Given the description of an element on the screen output the (x, y) to click on. 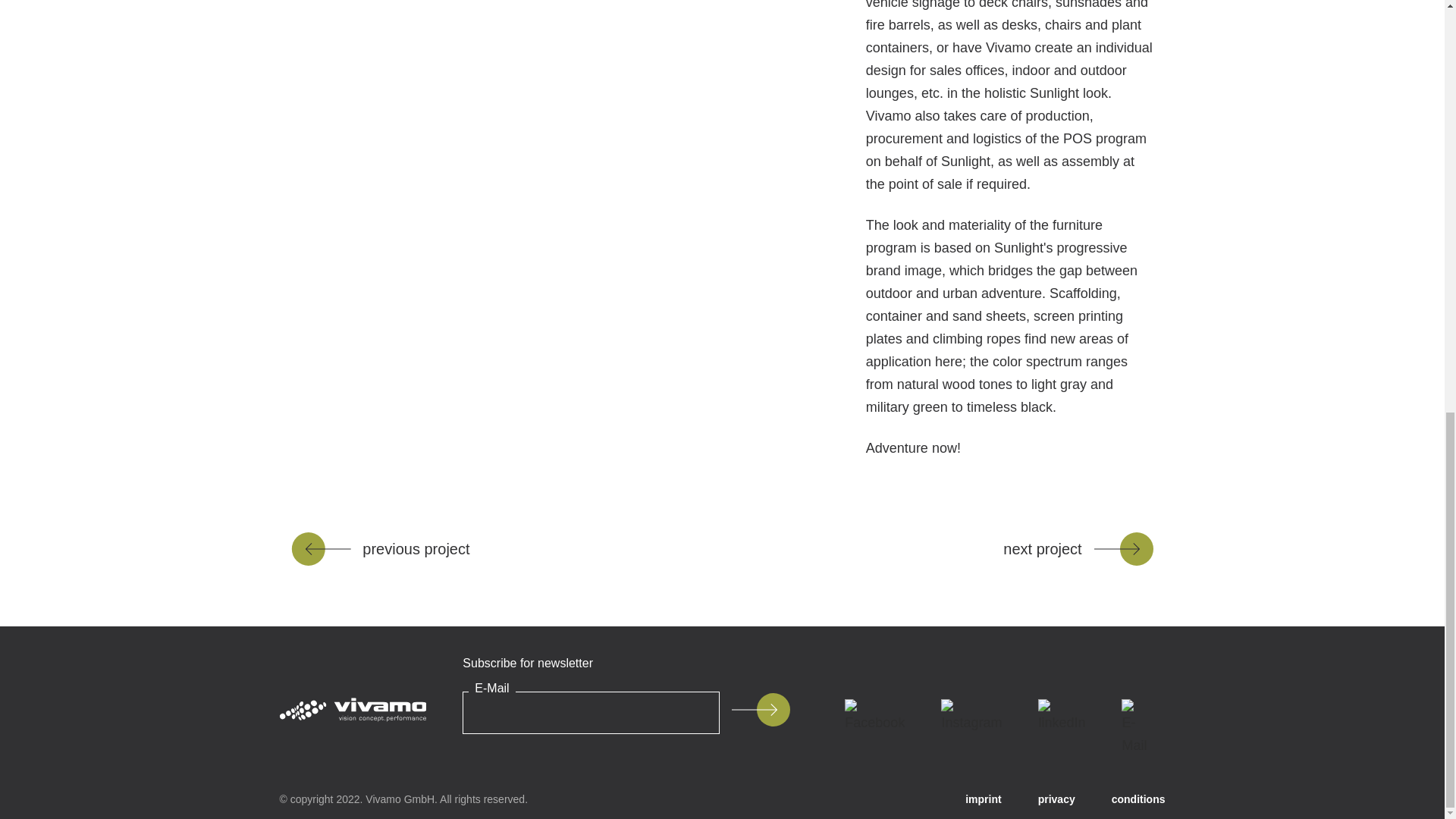
privacy (1056, 799)
submit form (760, 709)
next project (1078, 548)
Instagram (971, 716)
conditions (1139, 799)
Facebook (875, 716)
linkedIn (1061, 716)
imprint (983, 799)
previous project (379, 548)
